Given the description of an element on the screen output the (x, y) to click on. 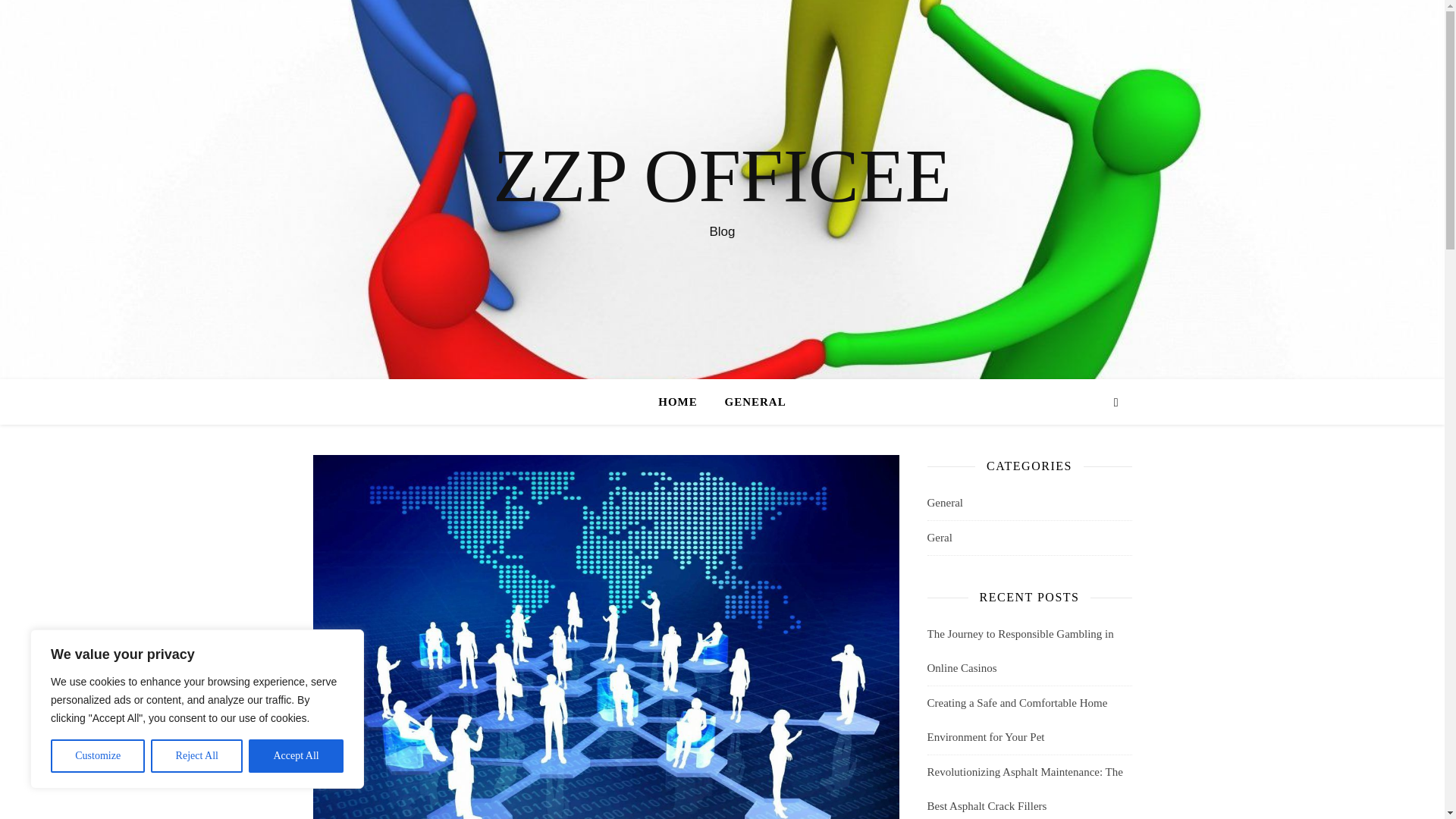
General (944, 503)
Accept All (295, 756)
Reject All (197, 756)
HOME (684, 402)
The Journey to Responsible Gambling in Online Casinos (1019, 651)
GENERAL (749, 402)
Customize (97, 756)
